Given the description of an element on the screen output the (x, y) to click on. 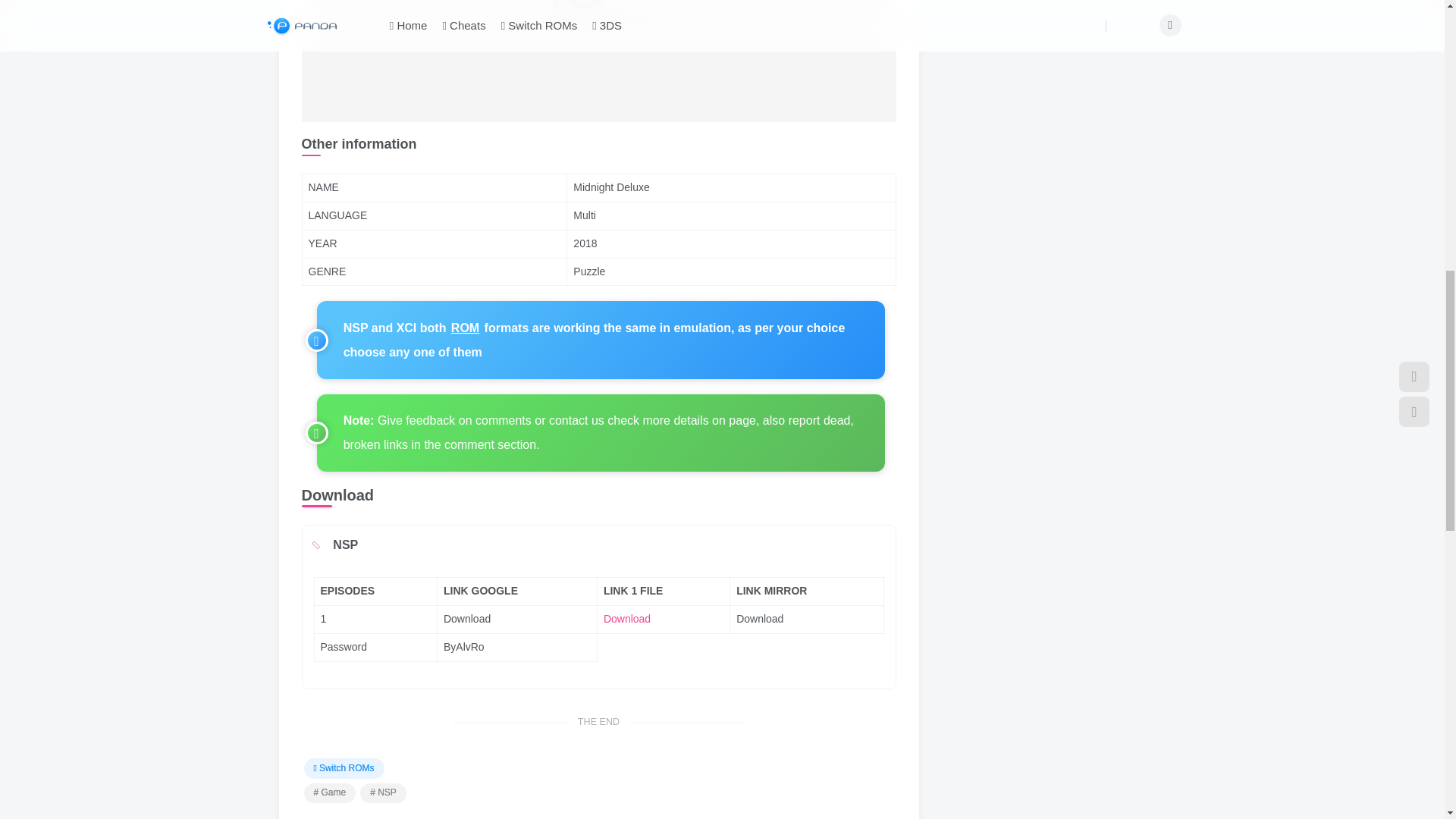
See more classified articles (343, 768)
Download (627, 618)
Check out this TAB for more articles (382, 792)
Switch ROMs (343, 768)
Check out this TAB for more articles (328, 792)
ROM (465, 327)
